Given the description of an element on the screen output the (x, y) to click on. 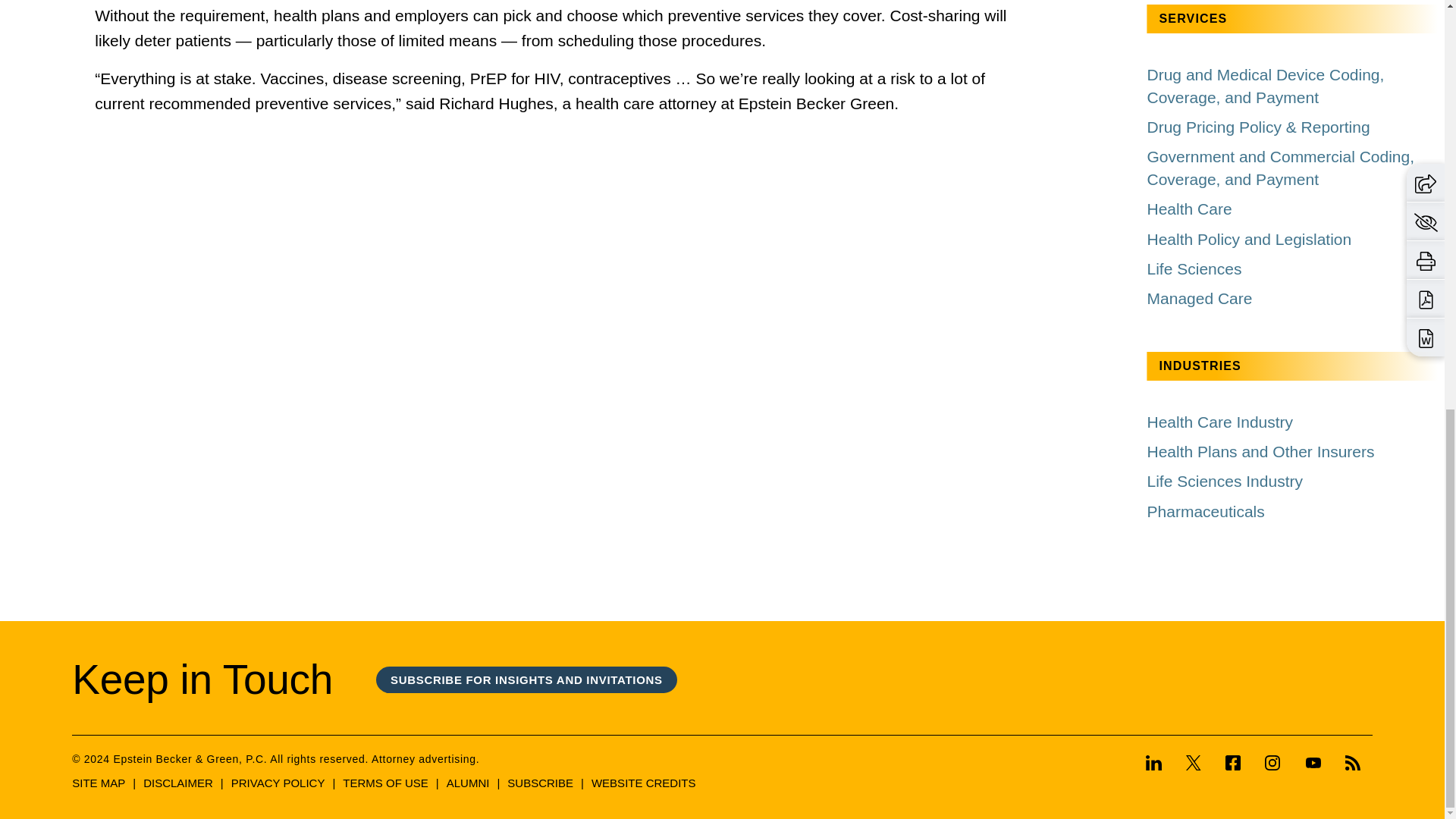
Twitter (1193, 762)
Linkedin (1153, 762)
Facebook (1232, 764)
RSS (1352, 762)
Twitter (1192, 764)
Instagram (1273, 762)
Linkedin (1159, 764)
Youtube (1313, 762)
Instagram (1273, 764)
Facebook (1232, 762)
Youtube (1313, 764)
